Given the description of an element on the screen output the (x, y) to click on. 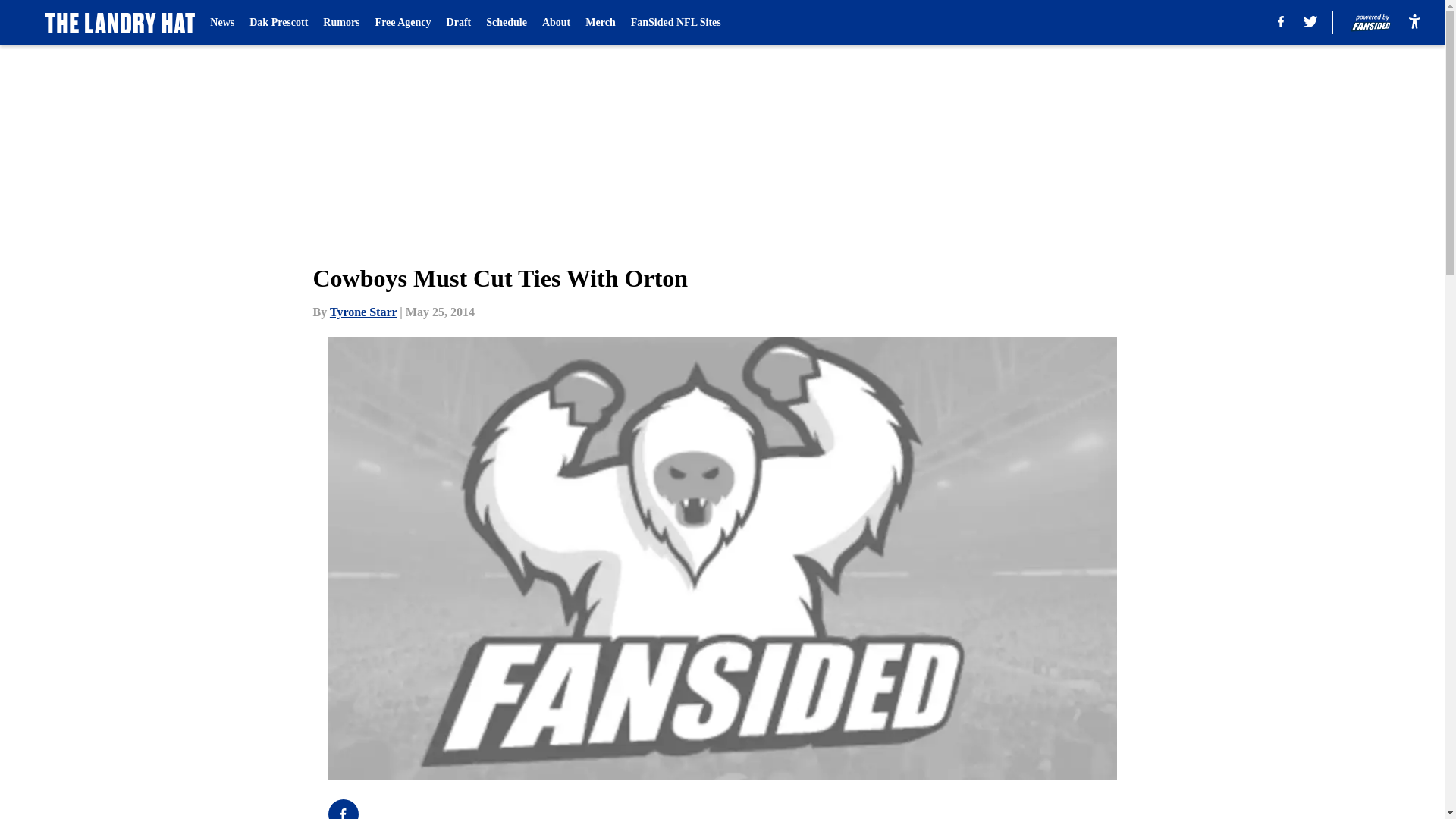
News (221, 22)
Free Agency (402, 22)
Rumors (341, 22)
Dak Prescott (277, 22)
Tyrone Starr (363, 311)
FanSided NFL Sites (675, 22)
Draft (458, 22)
About (555, 22)
Schedule (506, 22)
Merch (599, 22)
